Given the description of an element on the screen output the (x, y) to click on. 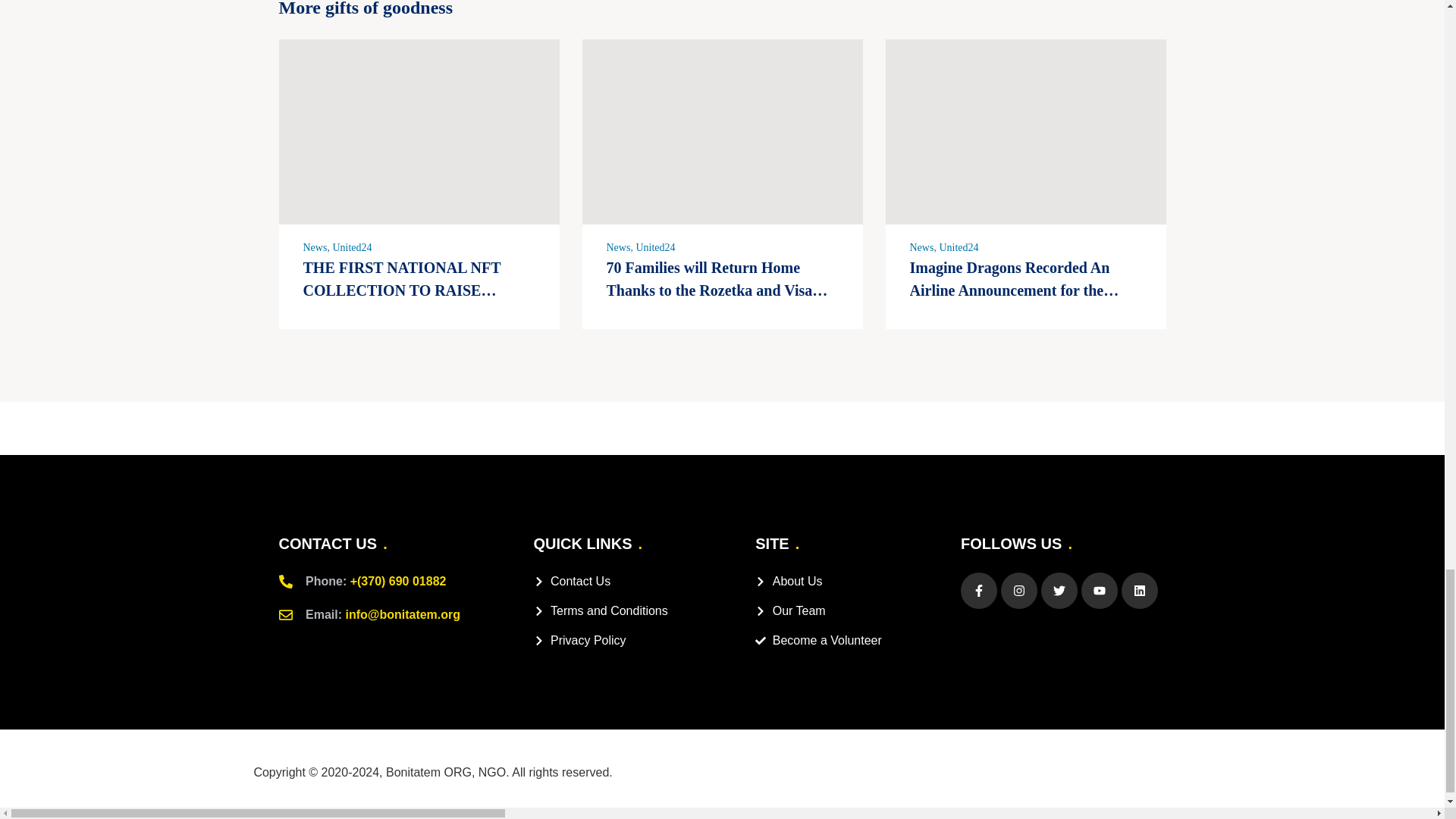
United24 (654, 247)
United24 (958, 247)
News (618, 247)
News (314, 247)
News (922, 247)
